Given the description of an element on the screen output the (x, y) to click on. 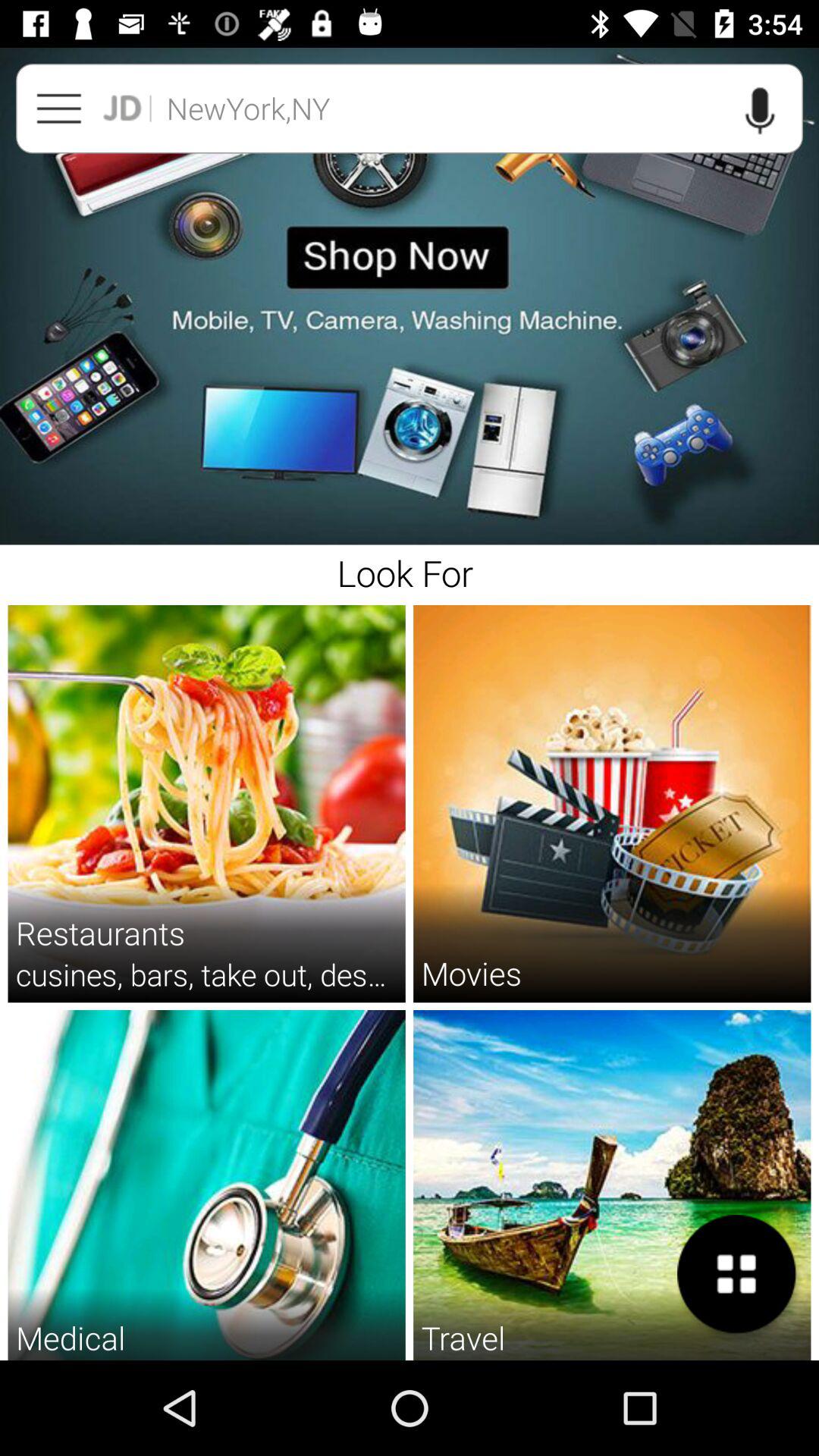
click the item next to the travel item (737, 1274)
